Given the description of an element on the screen output the (x, y) to click on. 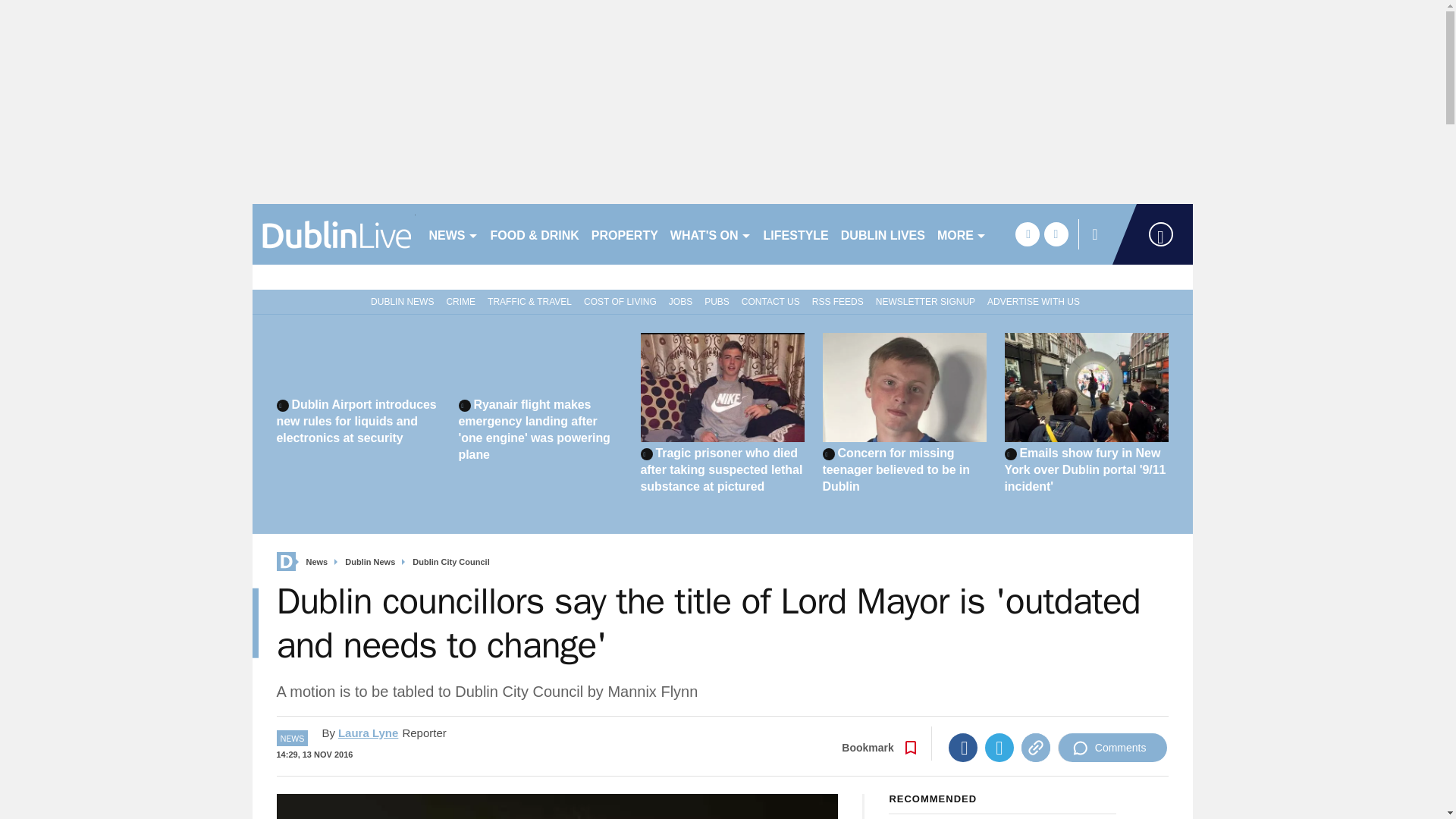
Comments (1112, 747)
DUBLIN LIVES (882, 233)
LIFESTYLE (795, 233)
PROPERTY (624, 233)
Twitter (999, 747)
MORE (961, 233)
Facebook (962, 747)
WHAT'S ON (710, 233)
twitter (1055, 233)
dublinlive (332, 233)
facebook (1026, 233)
NEWS (453, 233)
